Given the description of an element on the screen output the (x, y) to click on. 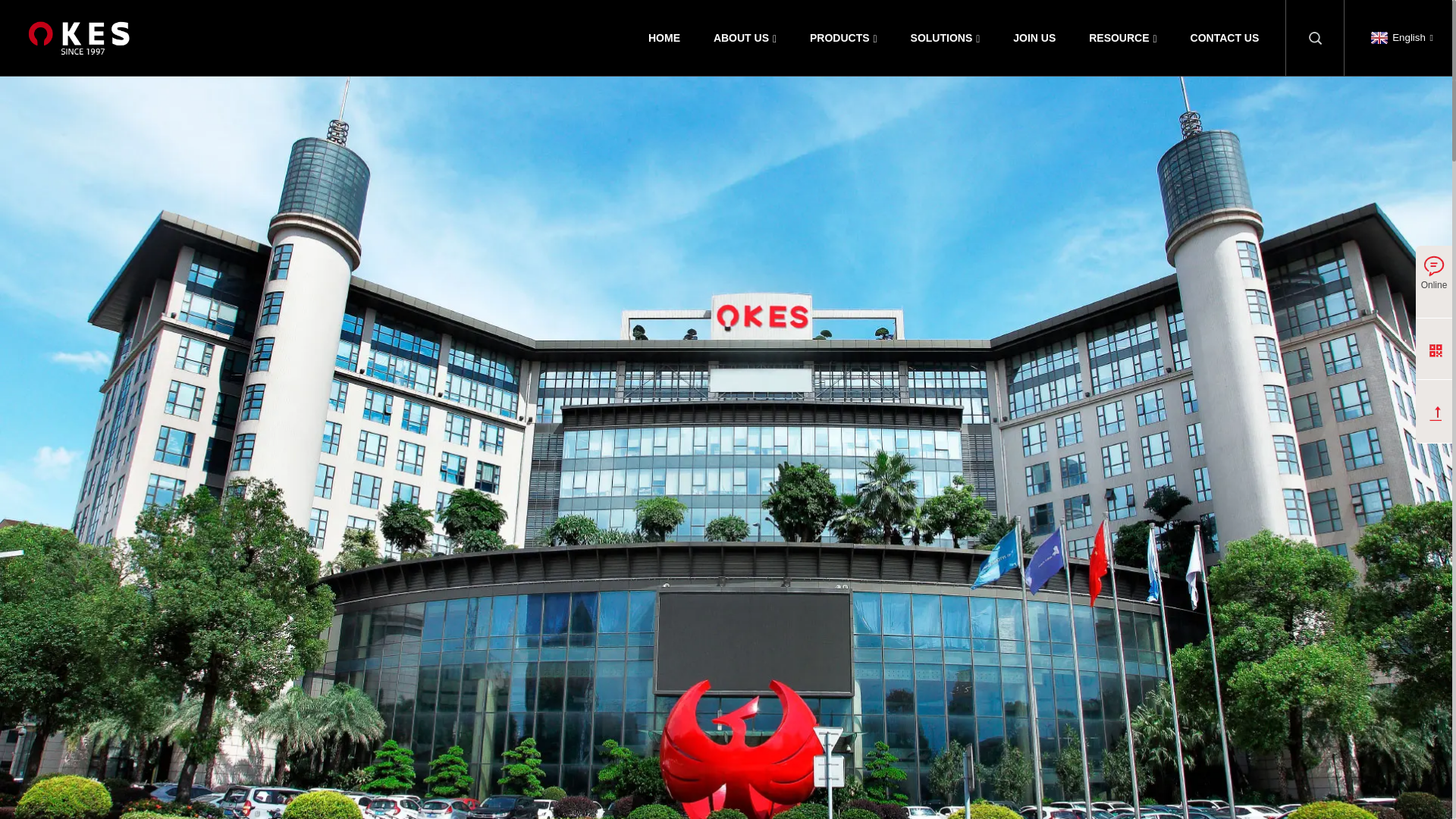
PRODUCTS (843, 38)
JOIN US (1033, 38)
English (1399, 37)
ABOUT US (745, 38)
SOLUTIONS (945, 38)
RESOURCE (1123, 38)
